Given the description of an element on the screen output the (x, y) to click on. 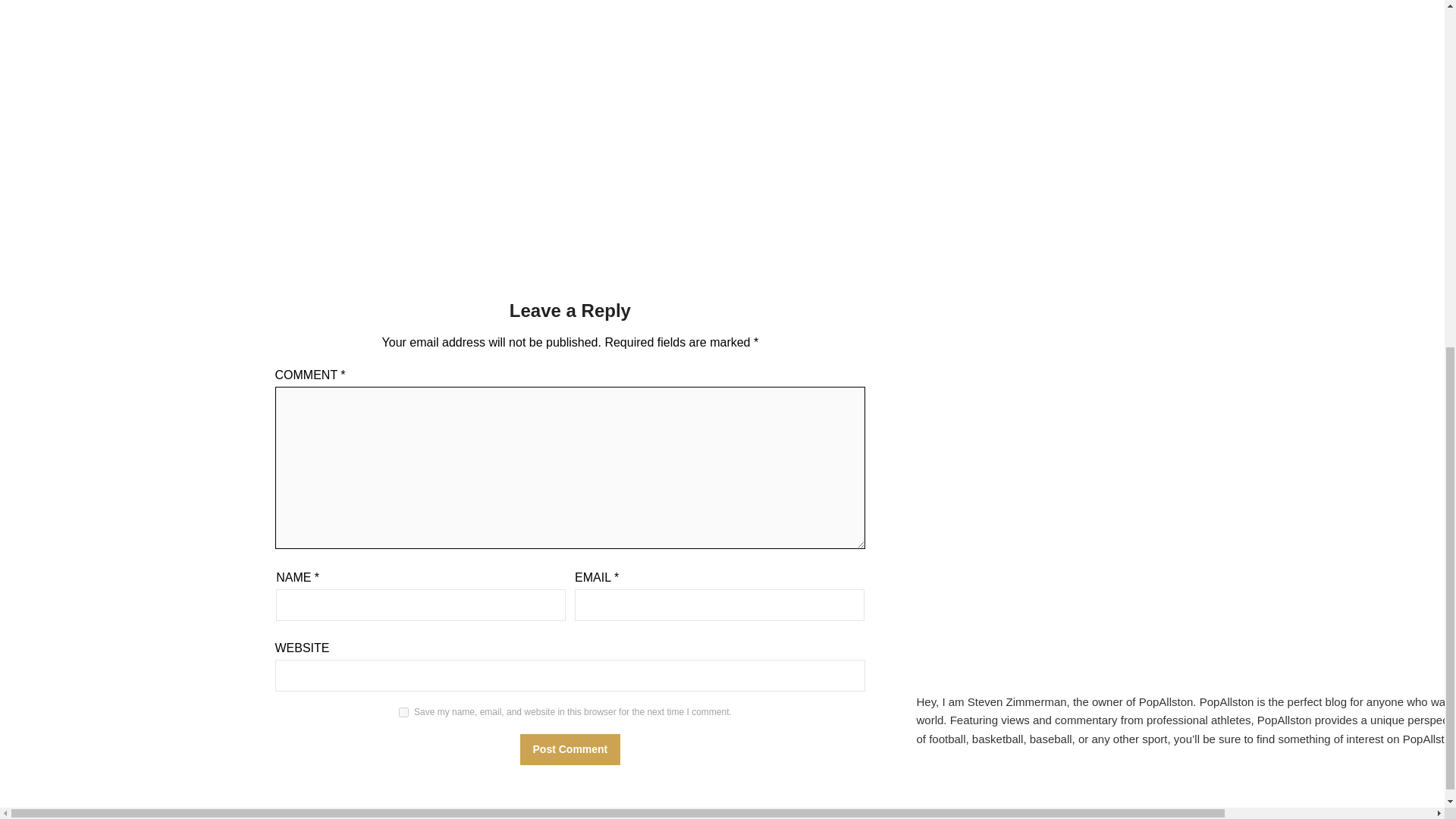
Post Comment (570, 748)
yes (403, 712)
Post Comment (570, 748)
